Given the description of an element on the screen output the (x, y) to click on. 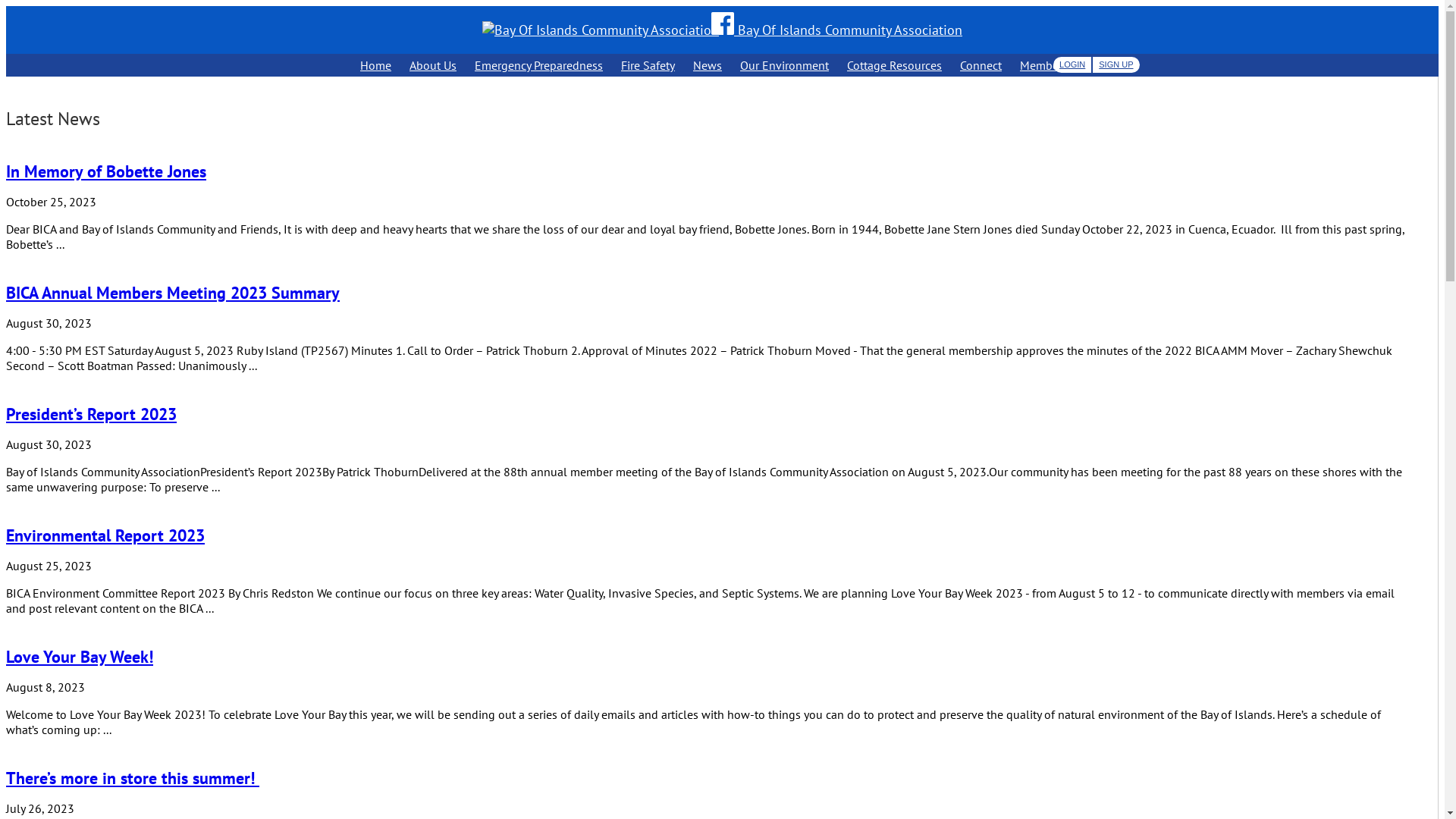
Love Your Bay Week! Element type: text (79, 656)
Cottage Resources Element type: text (894, 64)
BICA Annual Members Meeting 2023 Summary Element type: text (172, 292)
Membership Element type: text (1051, 64)
Home Element type: text (375, 64)
LOGIN Element type: text (1072, 64)
About Us Element type: text (432, 64)
News Element type: text (707, 64)
Connect Element type: text (980, 64)
Environmental Report 2023 Element type: text (105, 535)
Our Environment Element type: text (784, 64)
In Memory of Bobette Jones Element type: text (106, 171)
Fire Safety Element type: text (647, 64)
SIGN UP Element type: text (1115, 64)
Emergency Preparedness Element type: text (538, 64)
Bay Of Islands Community Association Element type: text (722, 29)
